Given the description of an element on the screen output the (x, y) to click on. 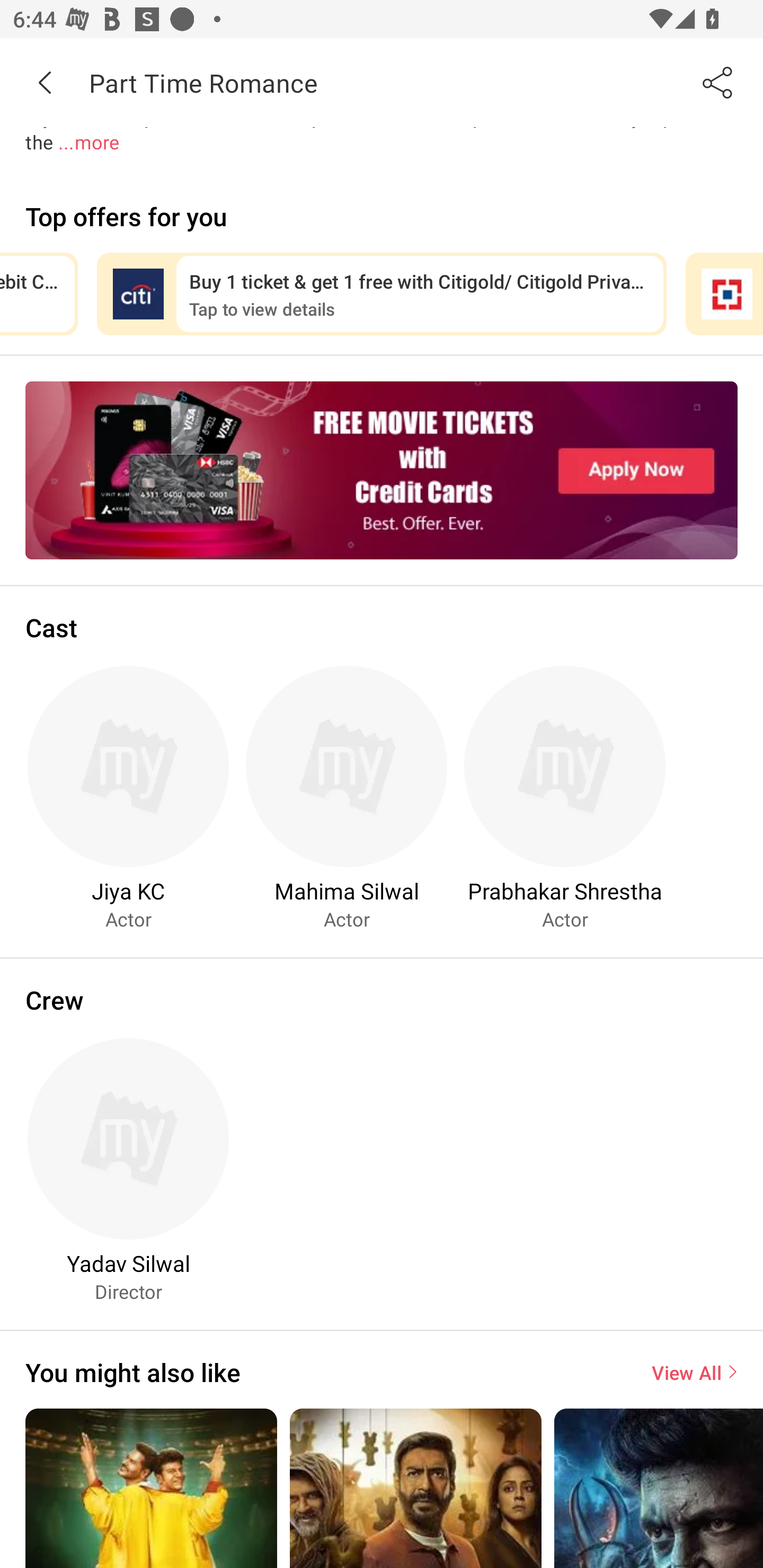
Back (44, 82)
Share (718, 82)
Jiya KC Actor (128, 797)
Mahima Silwal Actor (346, 797)
Prabhakar Shrestha Actor (564, 797)
Yadav Silwal Director (128, 1170)
View All (694, 1371)
